Given the description of an element on the screen output the (x, y) to click on. 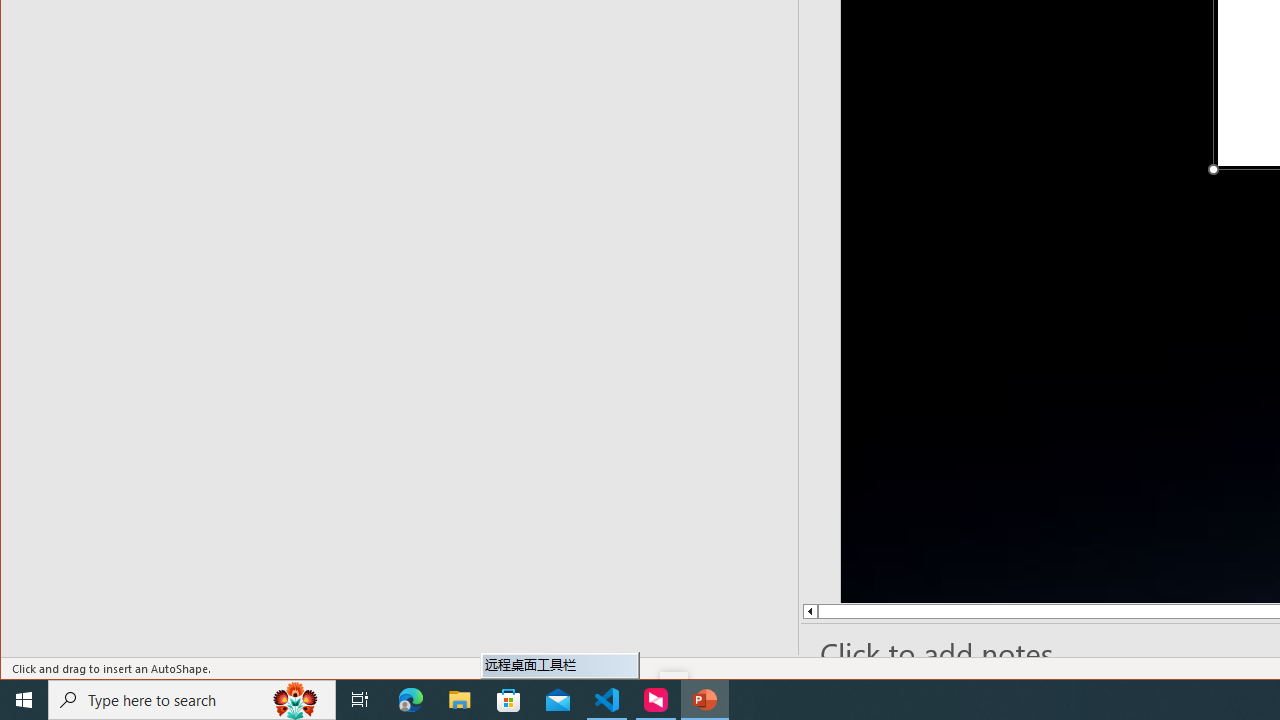
Microsoft Store (509, 699)
File Explorer (460, 699)
Type here to search (191, 699)
Start (24, 699)
Task View (359, 699)
Search highlights icon opens search home window (295, 699)
PowerPoint - 1 running window (704, 699)
Visual Studio Code - 1 running window (607, 699)
Microsoft Edge (411, 699)
